Given the description of an element on the screen output the (x, y) to click on. 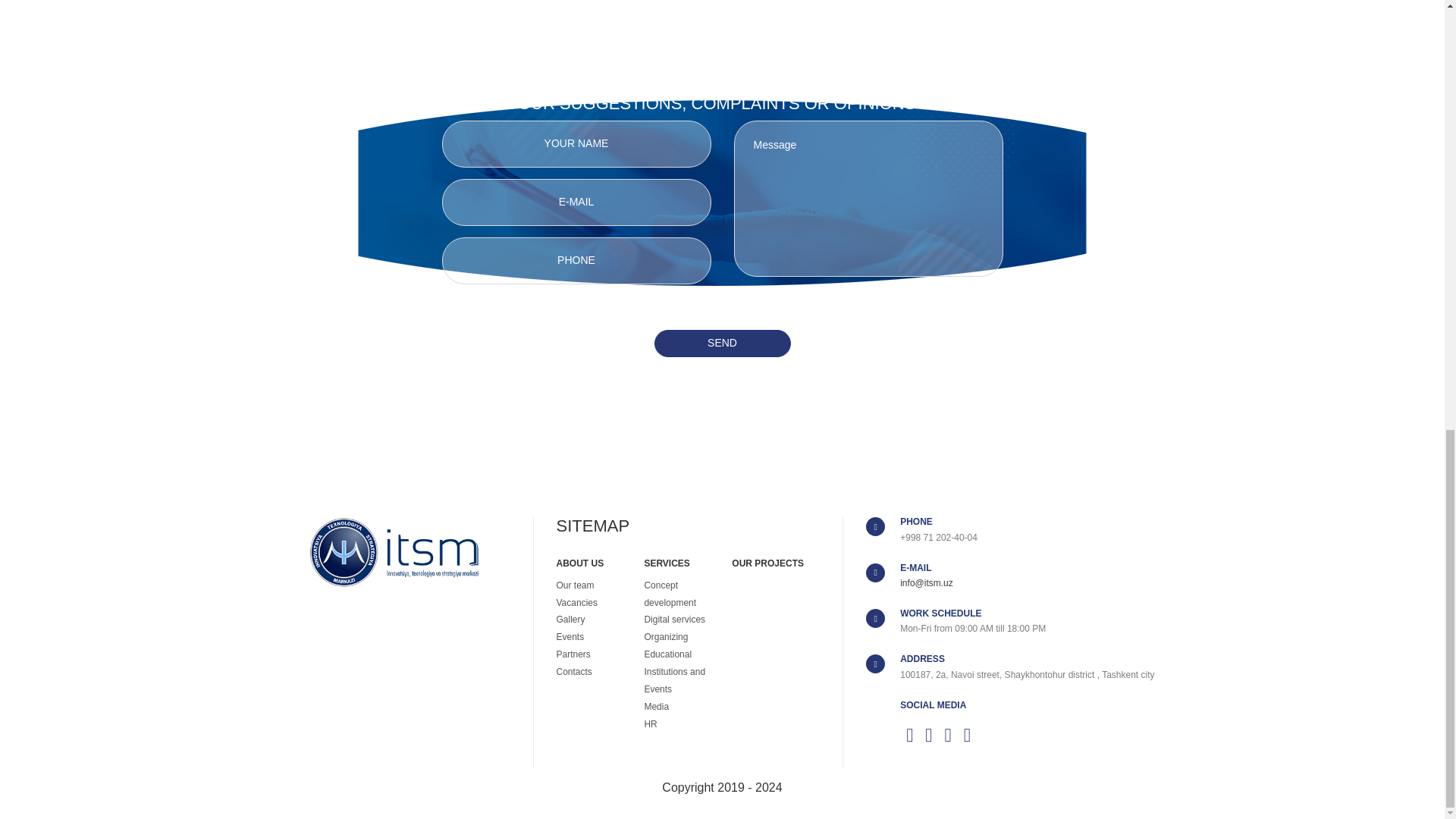
Contact us (721, 48)
